Given the description of an element on the screen output the (x, y) to click on. 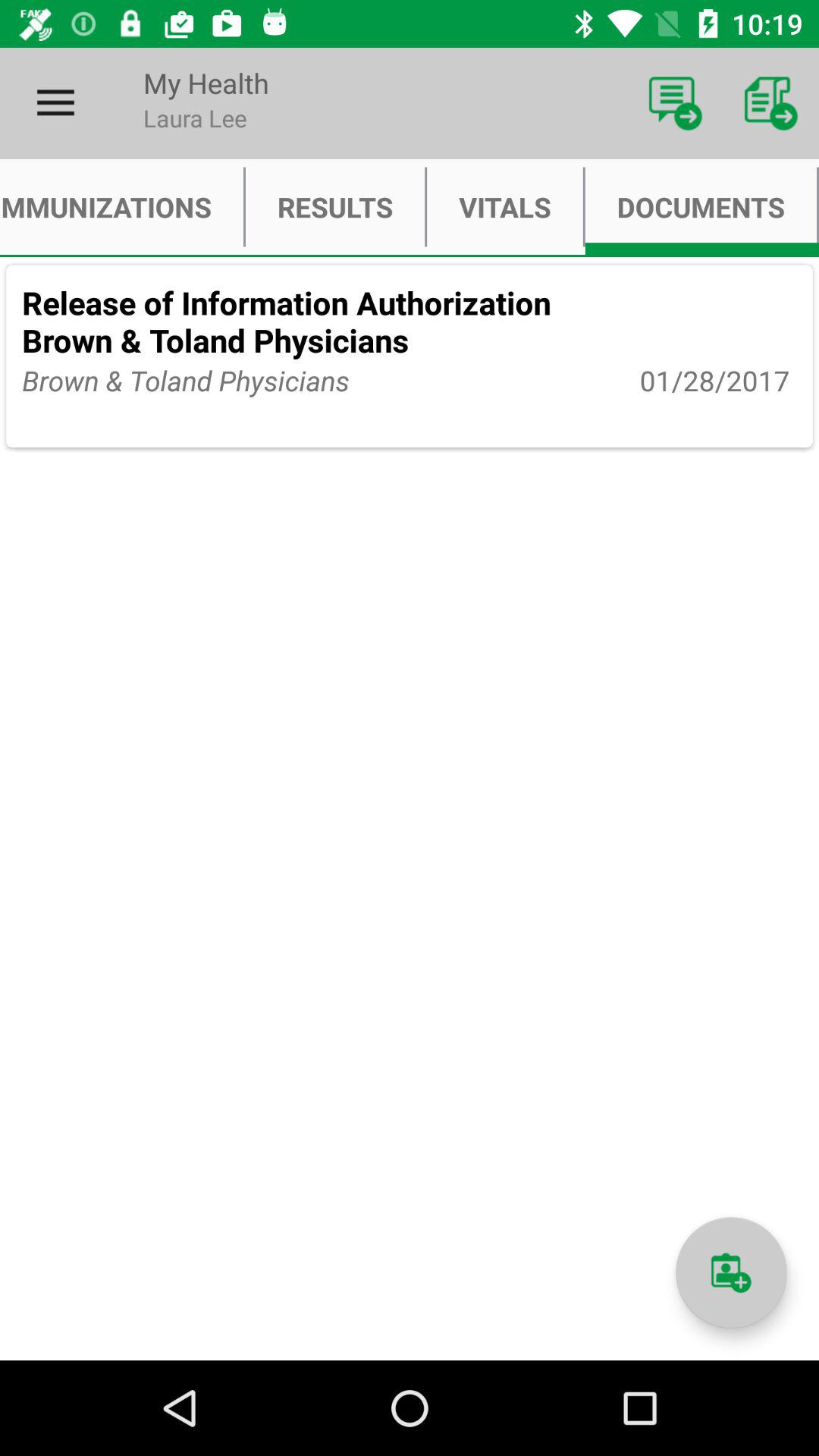
press icon above immunizations (55, 103)
